Given the description of an element on the screen output the (x, y) to click on. 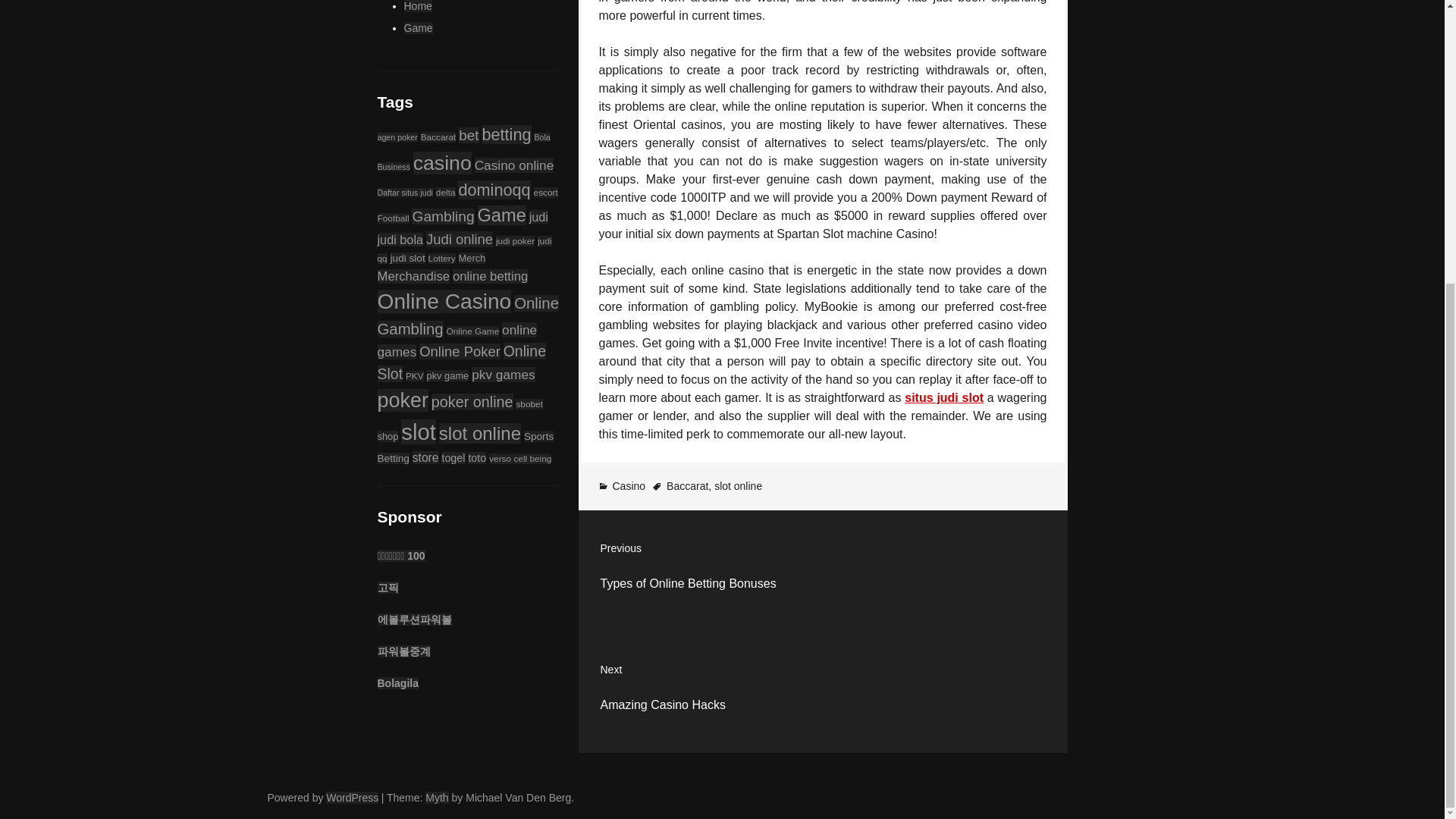
slot online (737, 485)
situs judi slot (944, 397)
Casino (629, 485)
Baccarat (686, 485)
